Given the description of an element on the screen output the (x, y) to click on. 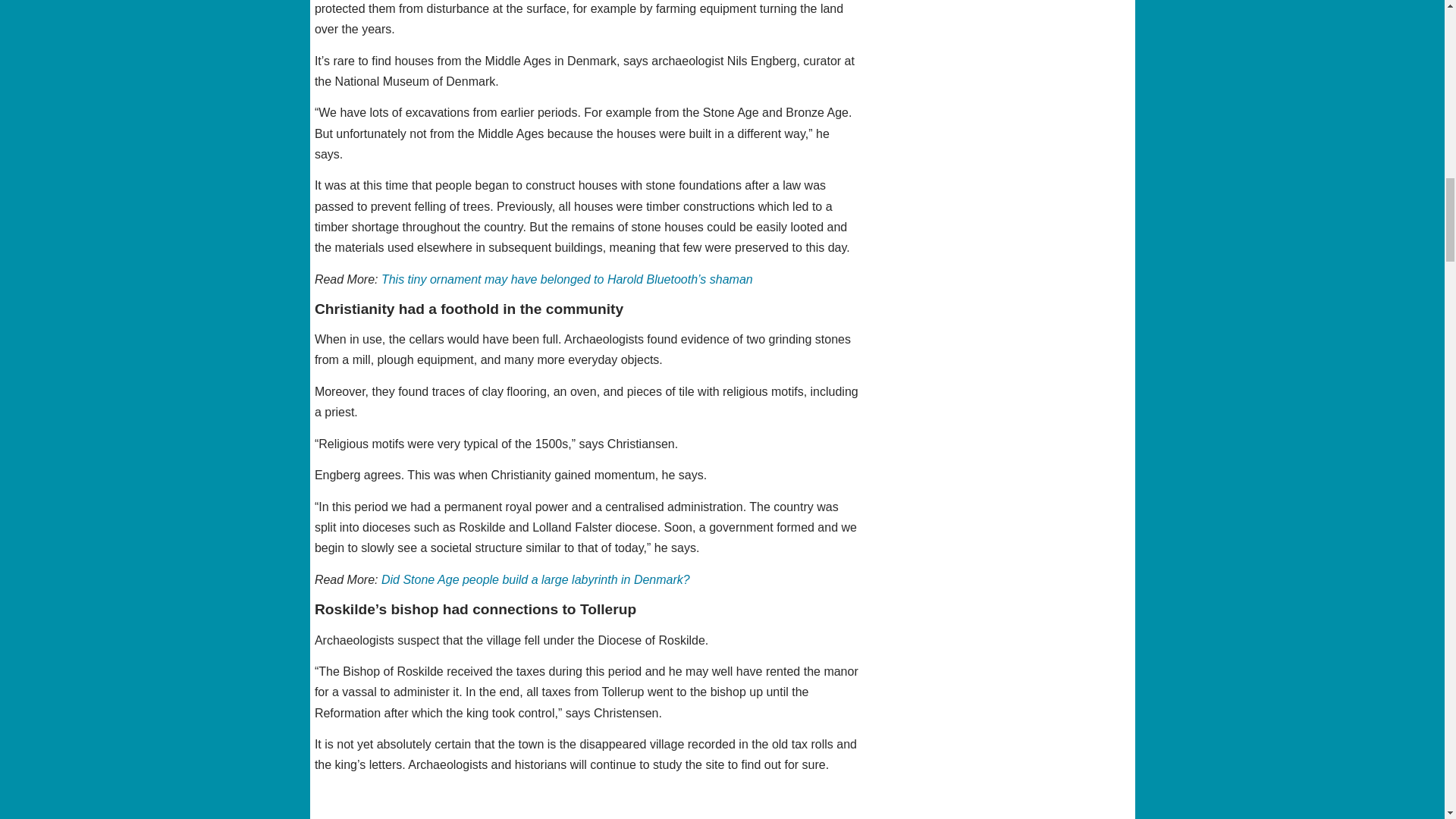
Did Stone Age people build a large labyrinth in Denmark? (535, 579)
